Given the description of an element on the screen output the (x, y) to click on. 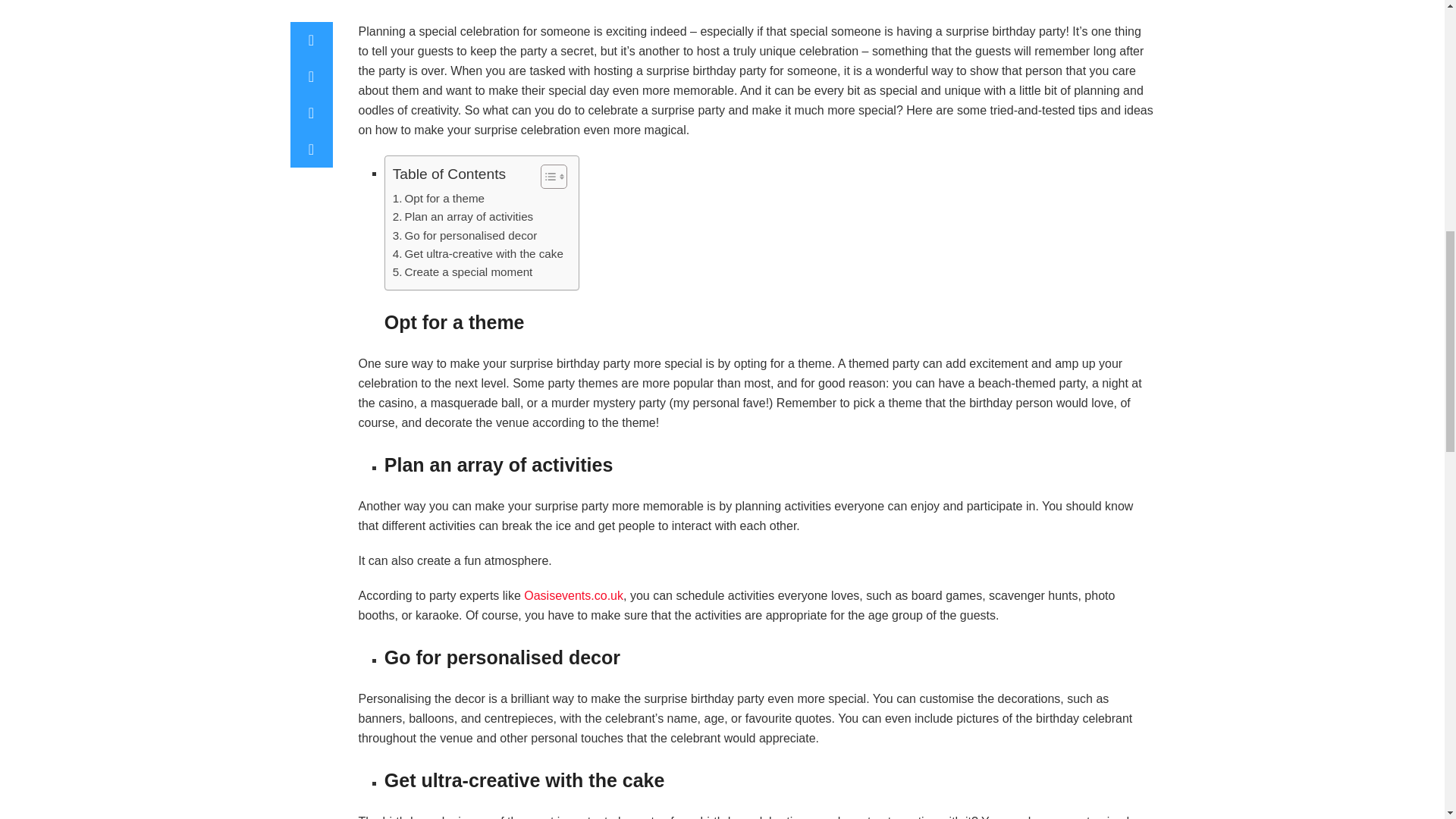
Get ultra-creative with the cake (478, 253)
Opt for a theme (438, 198)
Plan an array of activities (462, 217)
Opt for a theme (438, 198)
Create a special moment (462, 271)
Go for personalised decor (465, 235)
